Given the description of an element on the screen output the (x, y) to click on. 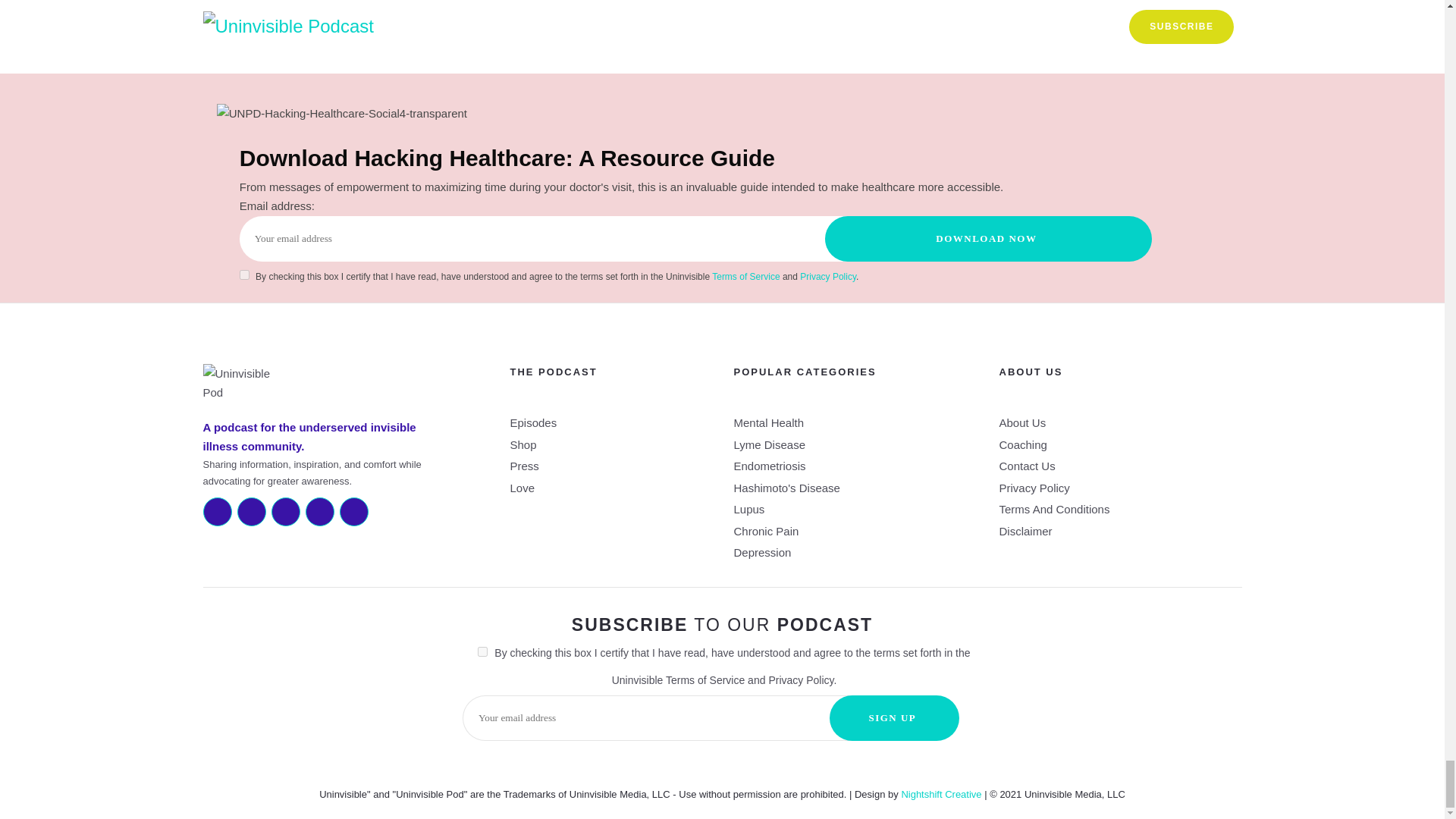
Download Now (989, 238)
1 (482, 651)
Sign up (894, 718)
1 (244, 275)
